Given the description of an element on the screen output the (x, y) to click on. 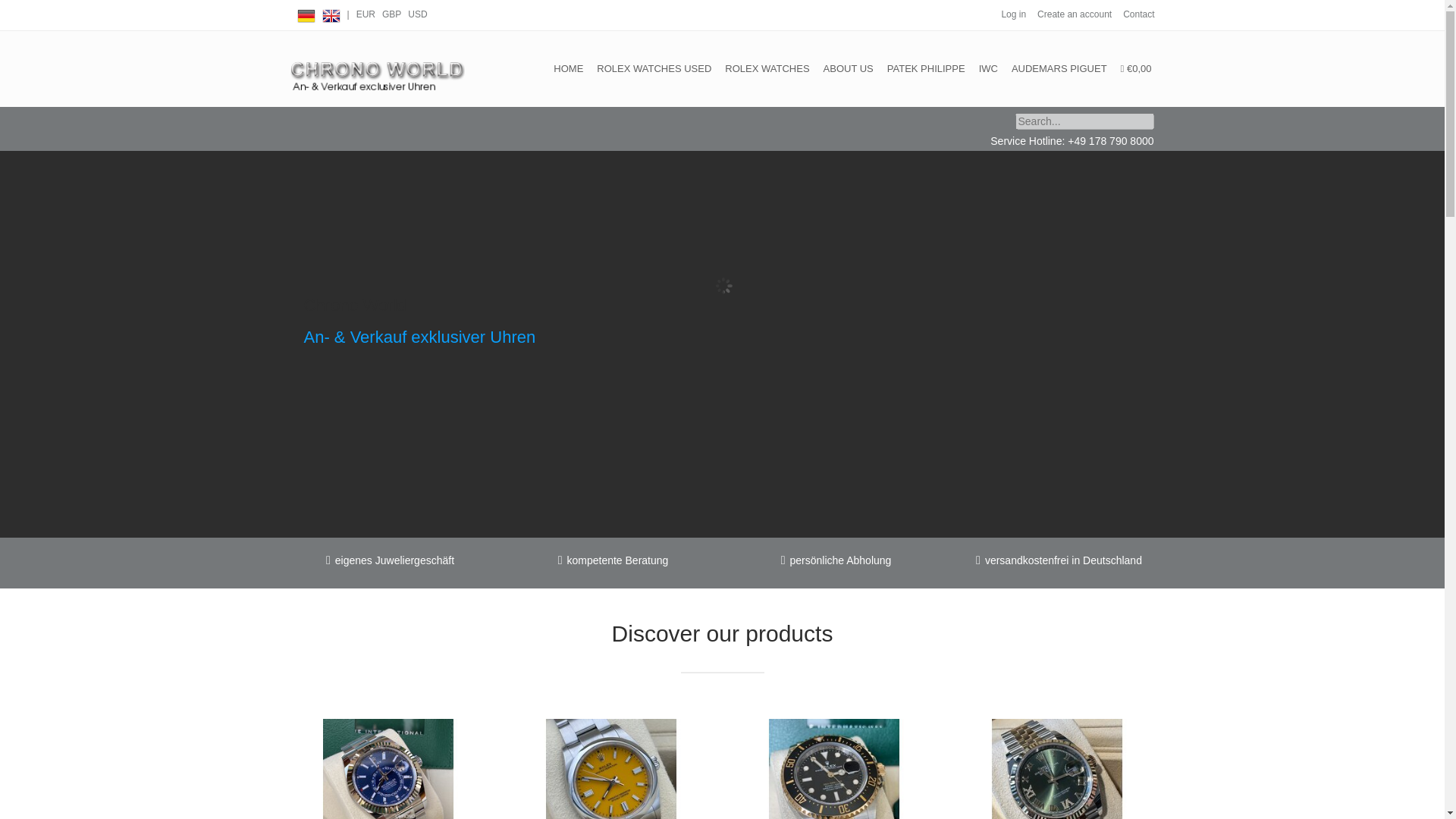
Deutsch (306, 12)
ROLEX WATCHES (767, 69)
ROLEX WATCHES USED (654, 69)
usd (416, 14)
service (1138, 14)
gbp (391, 14)
eur (365, 14)
EUR (365, 14)
English (330, 12)
Create an account (1074, 14)
My account (1013, 14)
GBP (391, 14)
Contact (1138, 14)
Create an account (1074, 14)
Log in (1013, 14)
